Given the description of an element on the screen output the (x, y) to click on. 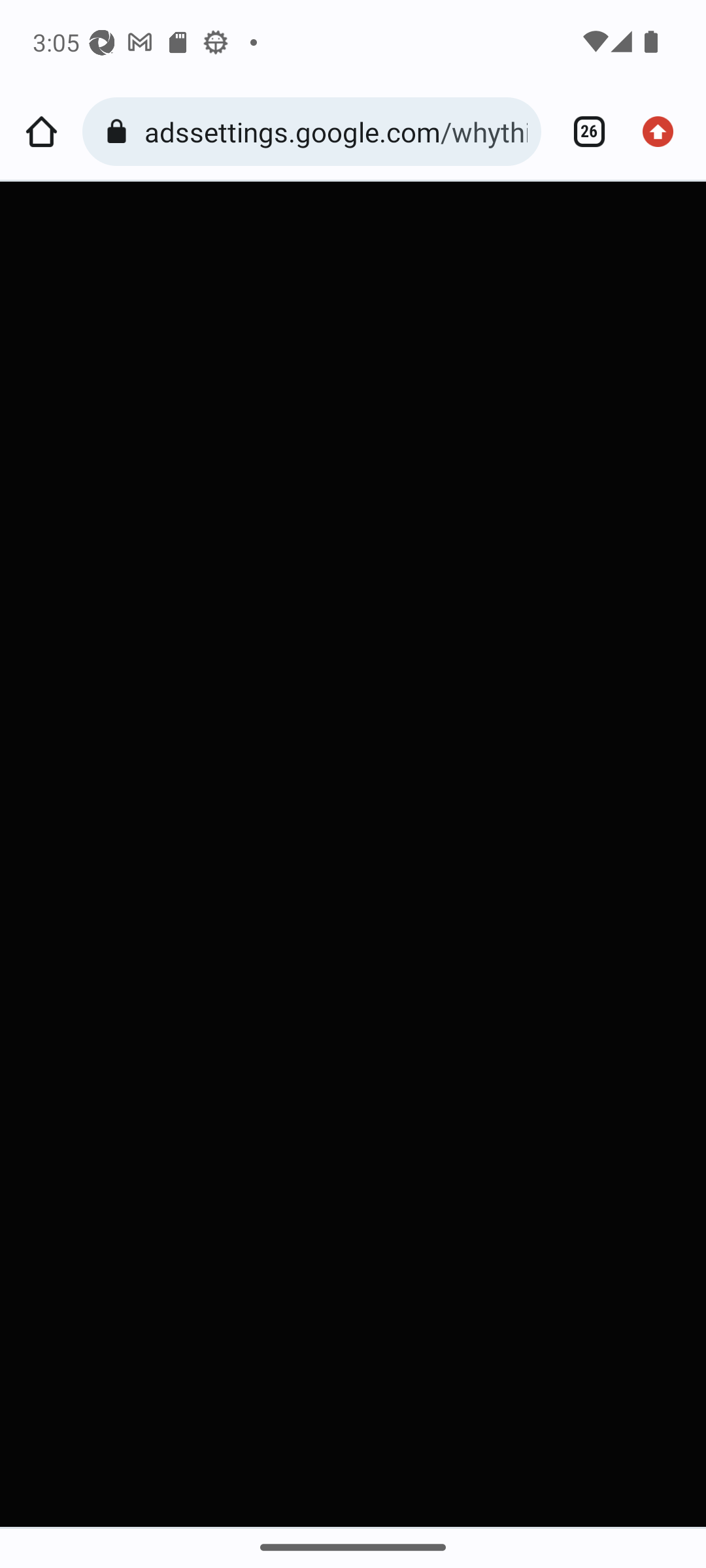
Home (41, 131)
Connection is secure (120, 131)
Switch or close tabs (582, 131)
Update available. More options (664, 131)
adssettings.google.com/whythisad (335, 131)
